Given the description of an element on the screen output the (x, y) to click on. 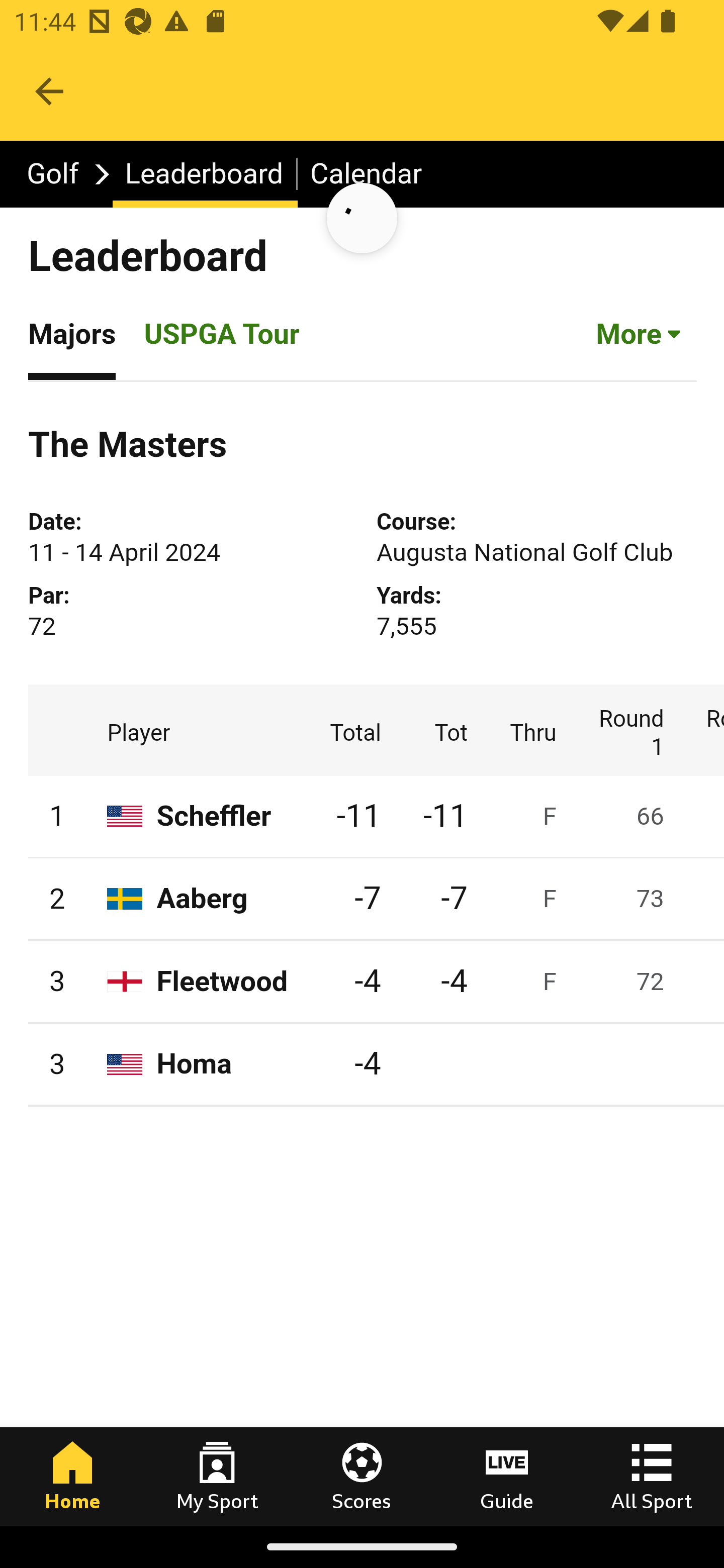
Navigate up (49, 91)
My Sport (216, 1475)
Scores (361, 1475)
Guide (506, 1475)
All Sport (651, 1475)
